Given the description of an element on the screen output the (x, y) to click on. 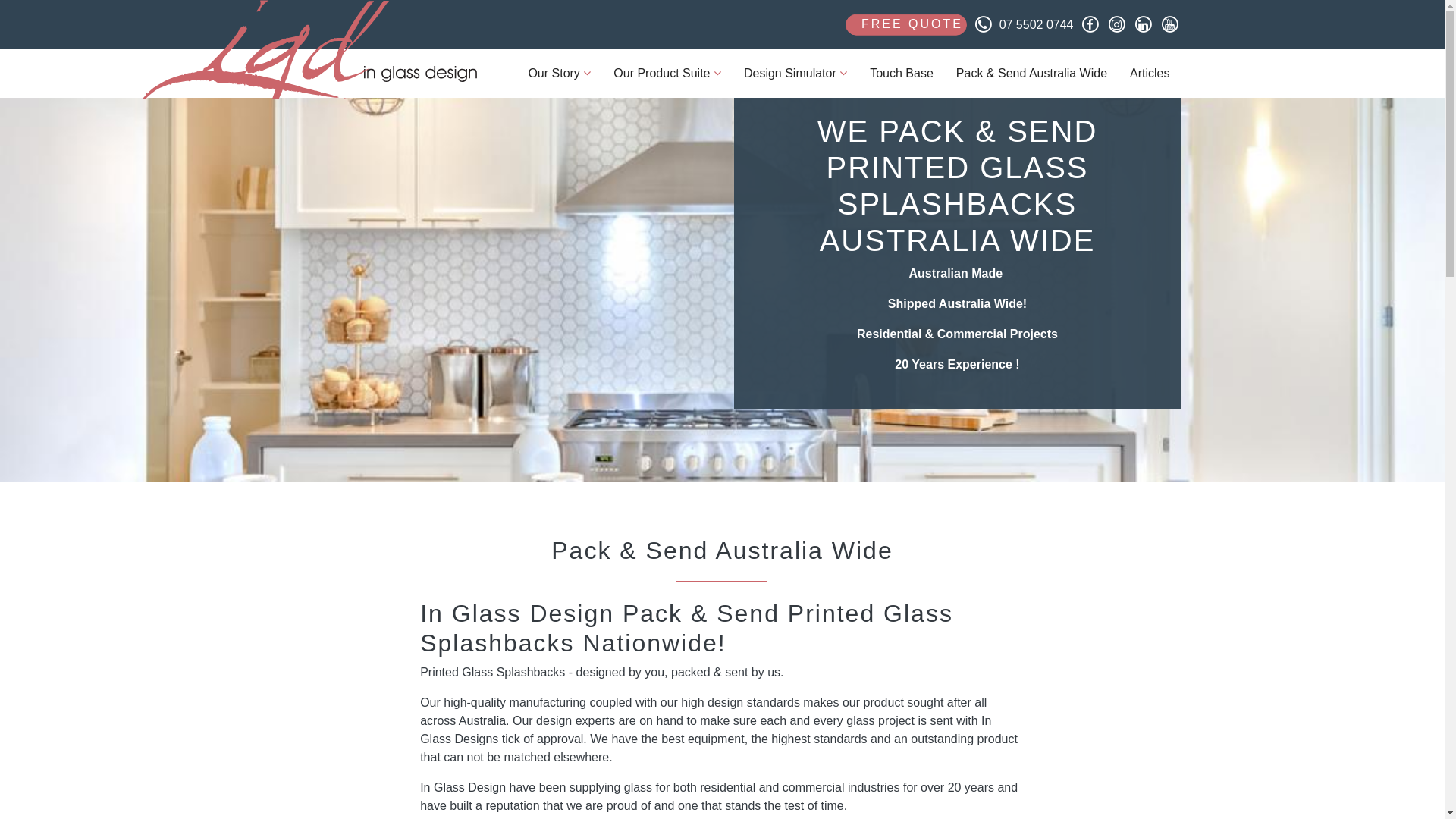
Design Simulator Element type: text (795, 72)
Visit us on LinkedIn Element type: hover (1142, 24)
Visit us on Youtube Element type: hover (1169, 24)
Touch Base Element type: text (901, 72)
Articles Element type: text (1149, 72)
07 5502 0744 Element type: text (1019, 24)
Our Story Element type: text (559, 72)
Pack & Send Australia Wide Element type: text (1031, 72)
Our Product Suite Element type: text (667, 72)
Follow us on Instagram Element type: hover (1116, 24)
Visit us on Facebook Element type: hover (1089, 24)
FREE QUOTE Element type: text (905, 23)
